Given the description of an element on the screen output the (x, y) to click on. 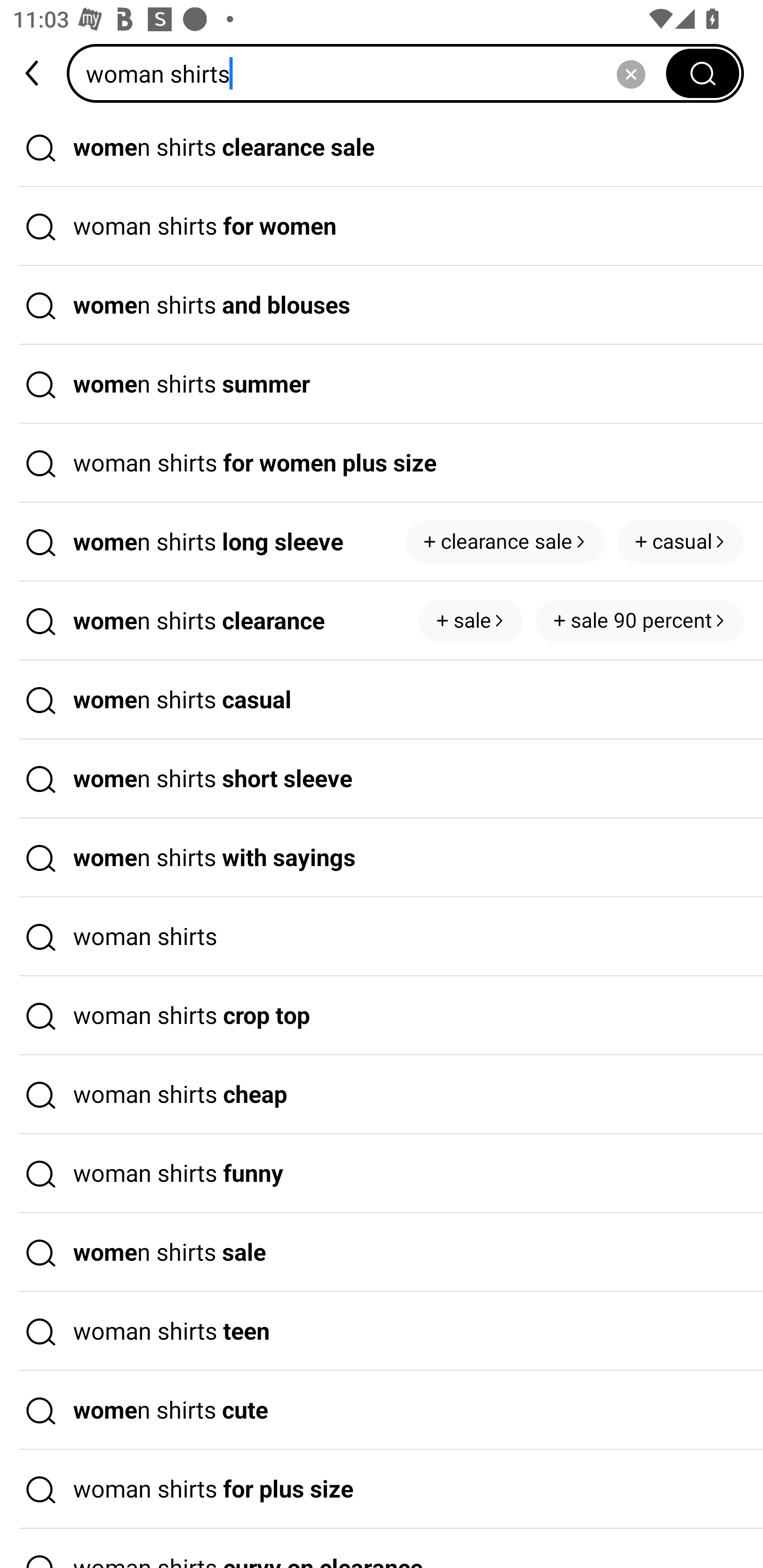
back (33, 72)
woman shirts (372, 73)
Delete search history (630, 73)
women shirts clearance sale (381, 147)
woman shirts for women (381, 226)
women shirts and blouses (381, 305)
women shirts summer (381, 383)
woman shirts for women plus size (381, 463)
women shirts long sleeve clearance sale casual (381, 542)
clearance sale (504, 541)
casual (680, 541)
women shirts clearance sale sale 90 percent (381, 620)
sale (470, 620)
sale 90 percent (639, 620)
women shirts casual (381, 700)
women shirts short sleeve (381, 779)
women shirts with sayings (381, 857)
woman shirts (381, 936)
woman shirts crop top (381, 1015)
woman shirts cheap (381, 1094)
woman shirts funny (381, 1173)
women shirts sale (381, 1252)
woman shirts teen (381, 1331)
women shirts cute (381, 1410)
woman shirts for plus size (381, 1489)
